Given the description of an element on the screen output the (x, y) to click on. 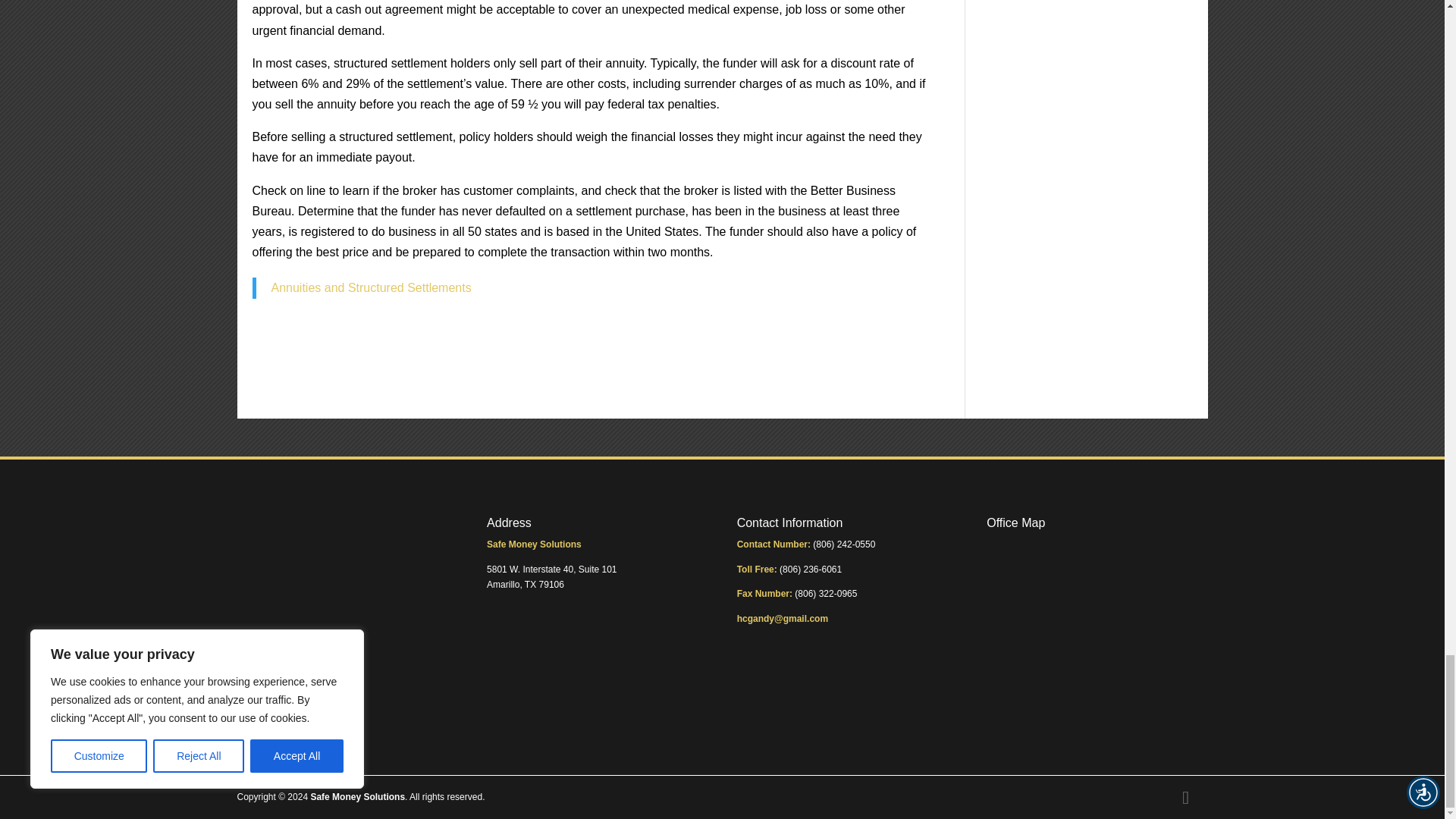
Annuities and Structured Settlements (370, 287)
